Given the description of an element on the screen output the (x, y) to click on. 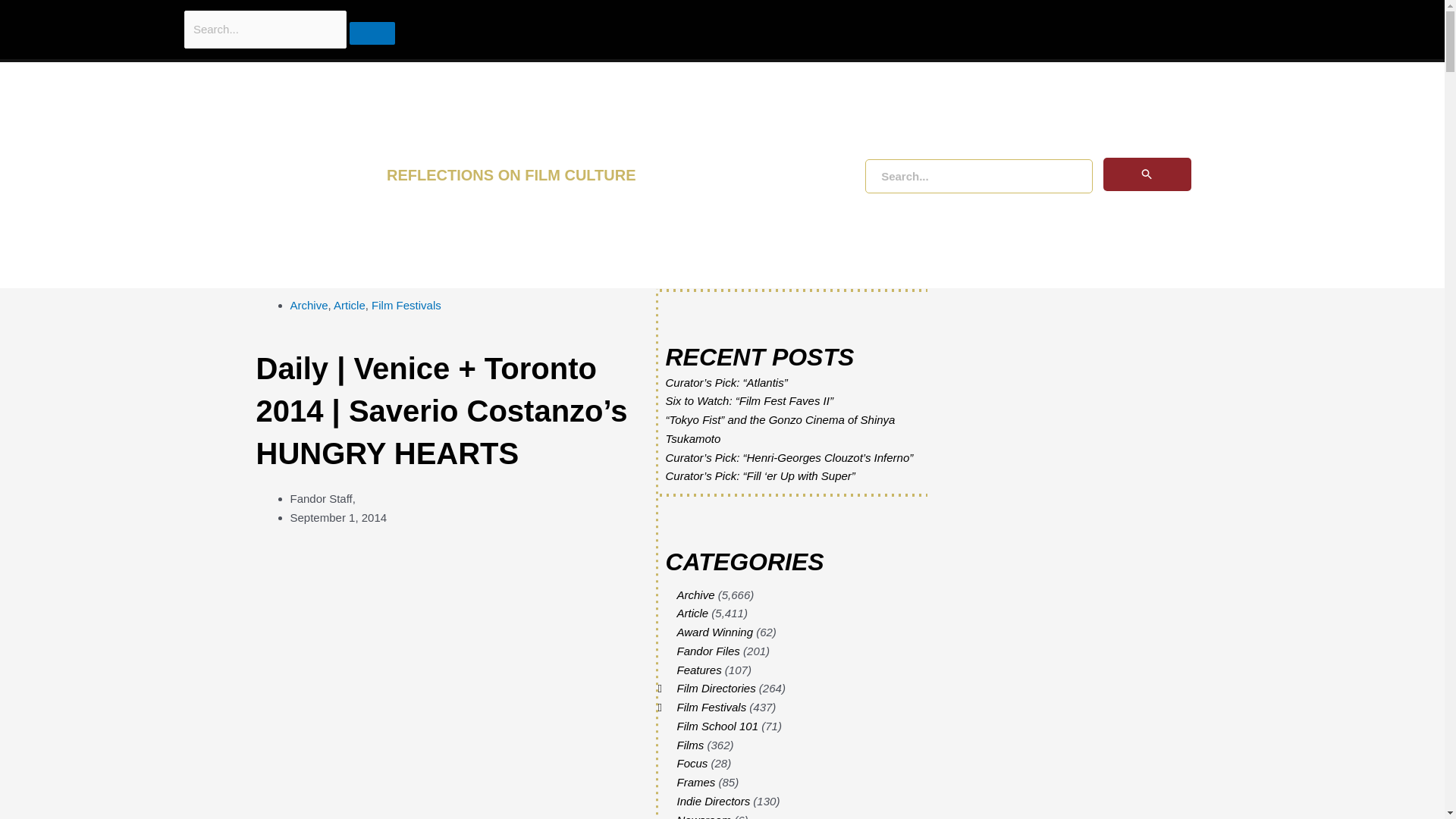
Search (371, 33)
Search (113, 17)
Archive (695, 594)
Article (692, 612)
Article (349, 305)
Fandor Files (708, 650)
Award Winning (714, 631)
Features (698, 669)
Archive (308, 305)
Film Festivals (406, 305)
